Given the description of an element on the screen output the (x, y) to click on. 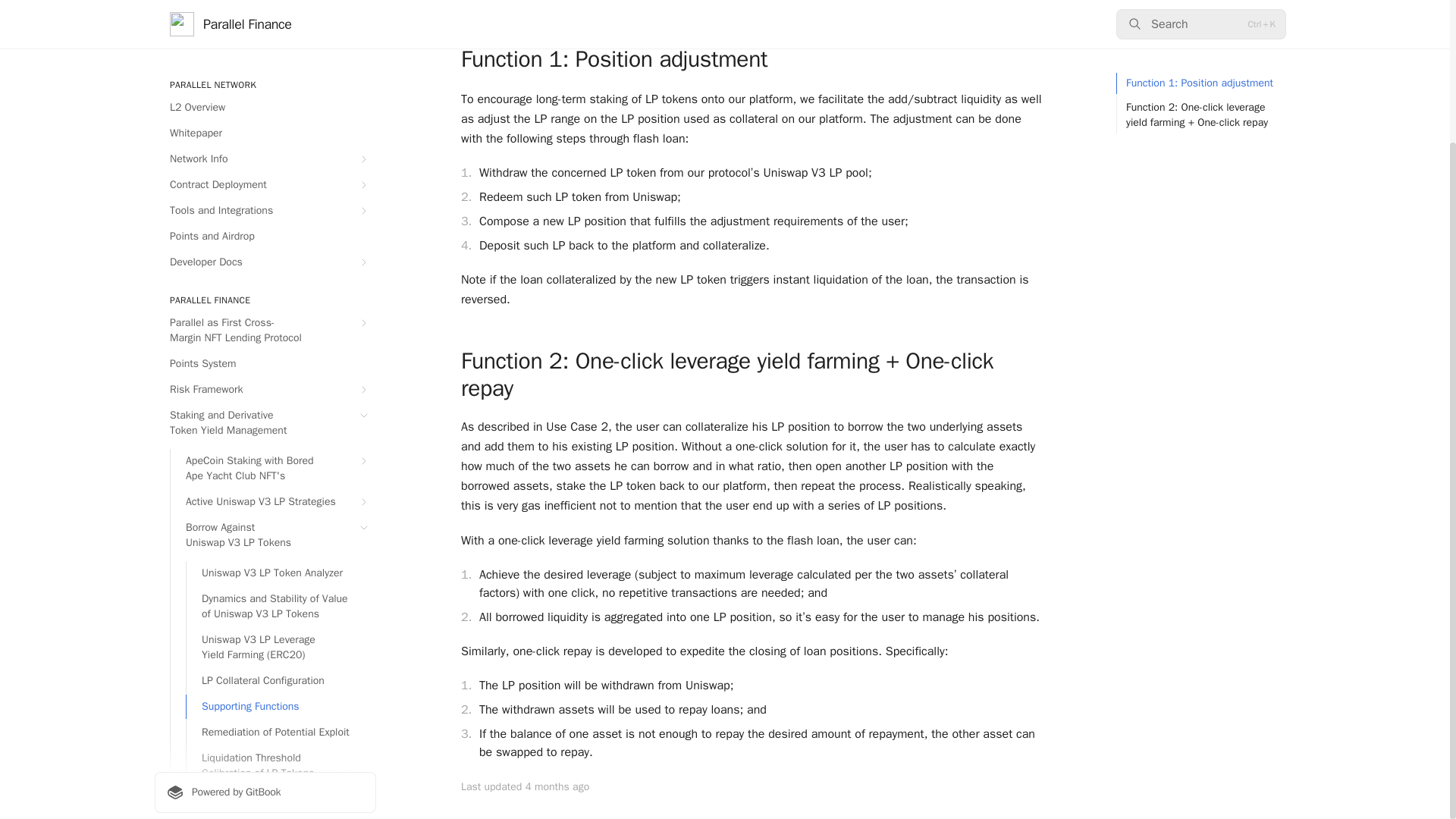
Points System (264, 191)
Contract Deployment (264, 12)
Developer Docs (264, 88)
Tools and Integrations (264, 37)
Risk Framework (264, 216)
Points and Airdrop (264, 63)
Parallel as First Cross-Margin NFT Lending Protocol (264, 157)
